Given the description of an element on the screen output the (x, y) to click on. 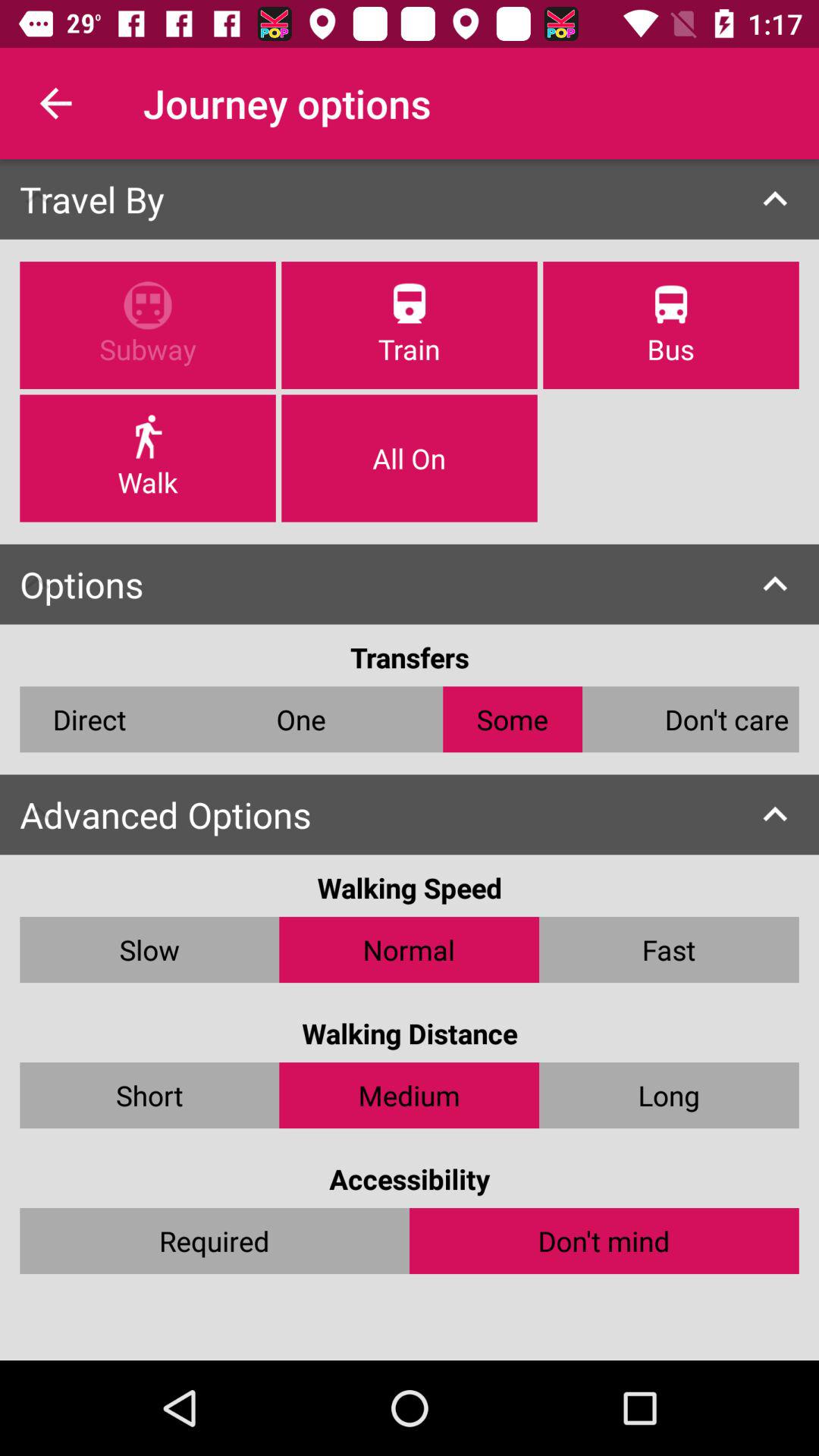
turn off the icon next to fast icon (409, 949)
